Given the description of an element on the screen output the (x, y) to click on. 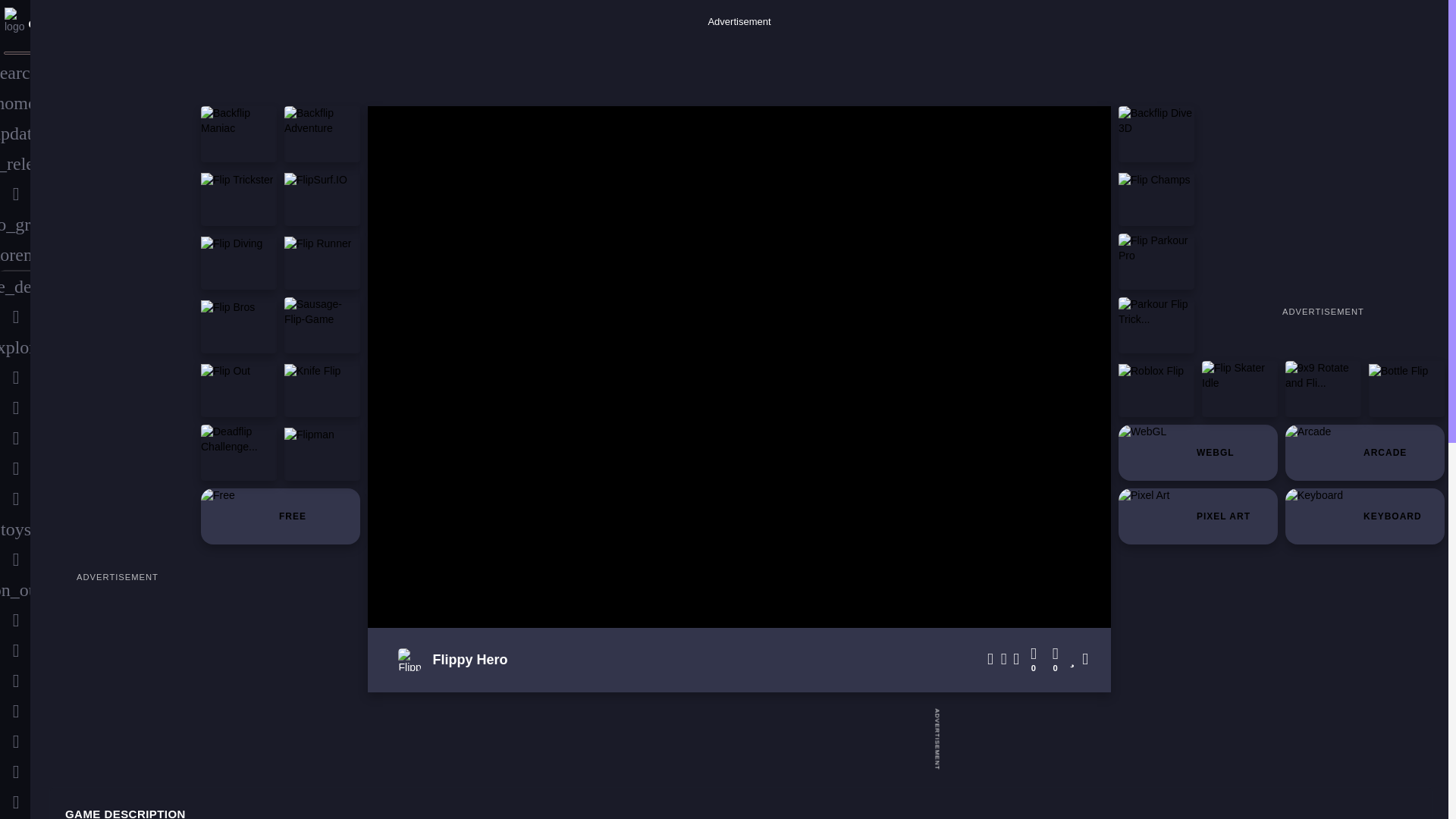
autorenew (15, 255)
toys (15, 529)
home (15, 102)
update (15, 132)
search (15, 72)
explore (15, 347)
